Given the description of an element on the screen output the (x, y) to click on. 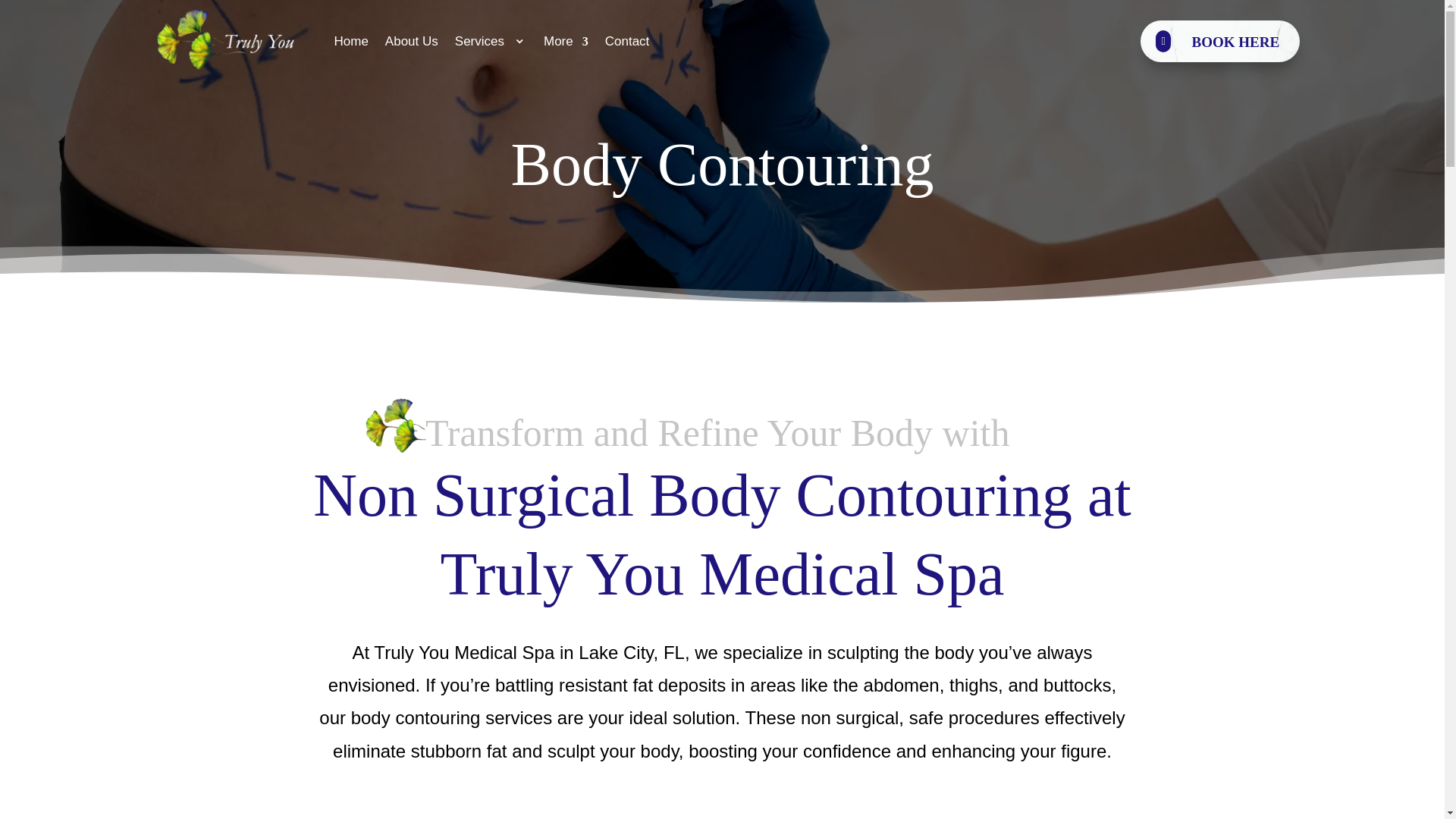
Services (490, 41)
